Given the description of an element on the screen output the (x, y) to click on. 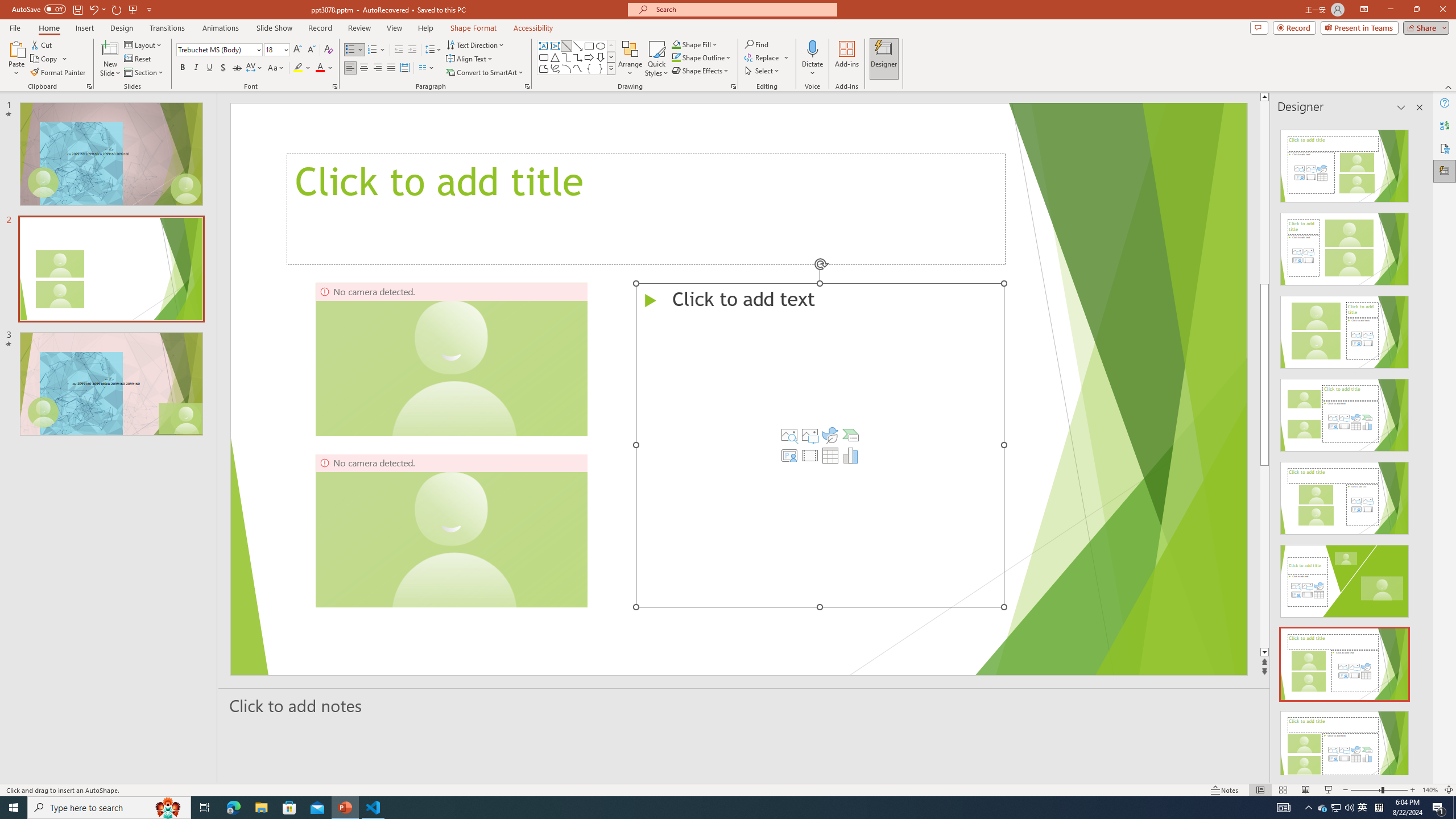
Character Spacing (254, 67)
Recommended Design: Design Idea (1344, 162)
Decrease Indent (398, 49)
Insert an Icon (830, 434)
Office Clipboard... (88, 85)
Align Left (349, 67)
Line Spacing (433, 49)
